Given the description of an element on the screen output the (x, y) to click on. 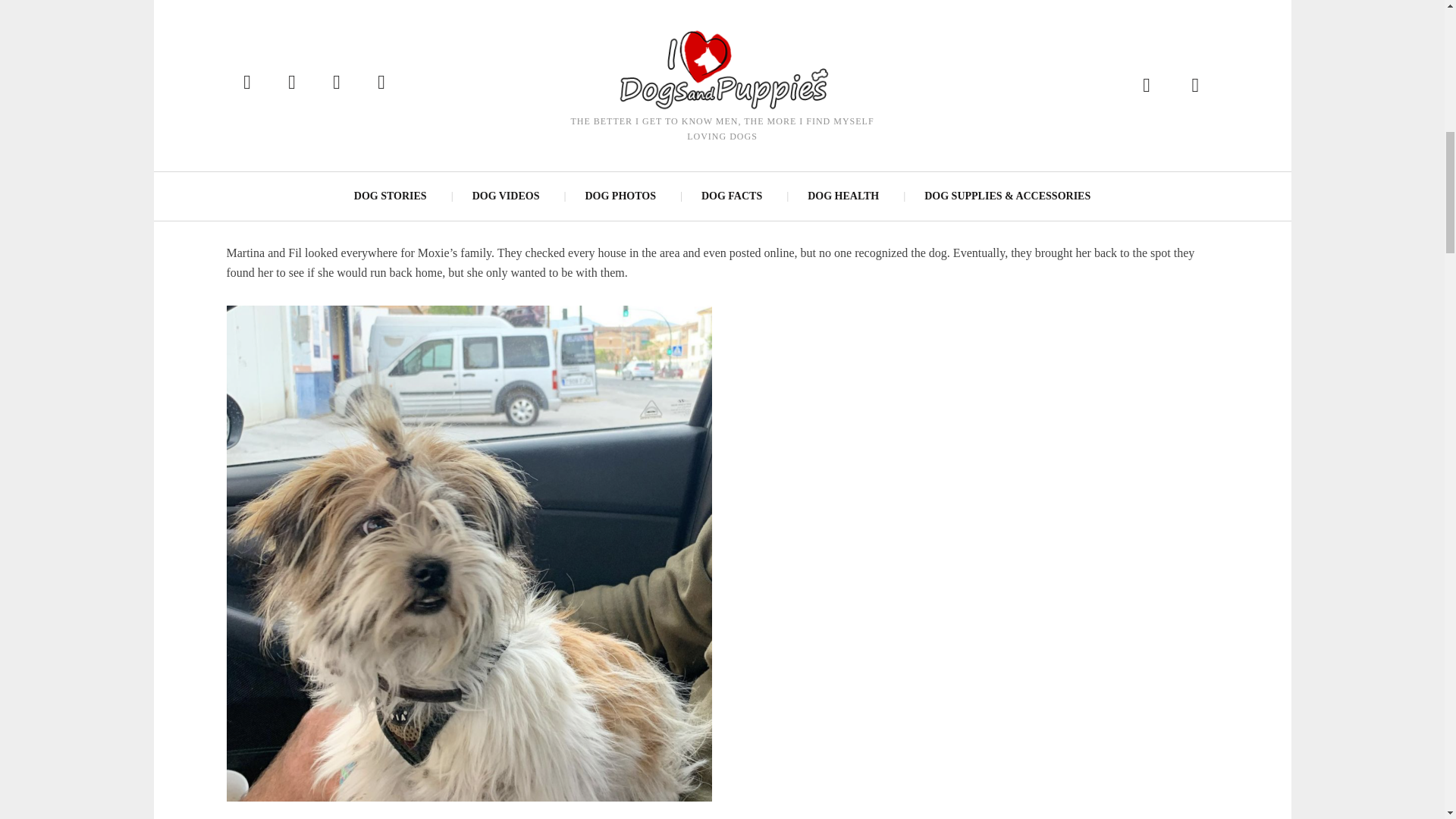
Posts by Mr.Dog (262, 71)
1 (473, 71)
Mr.Dog (262, 71)
